Given the description of an element on the screen output the (x, y) to click on. 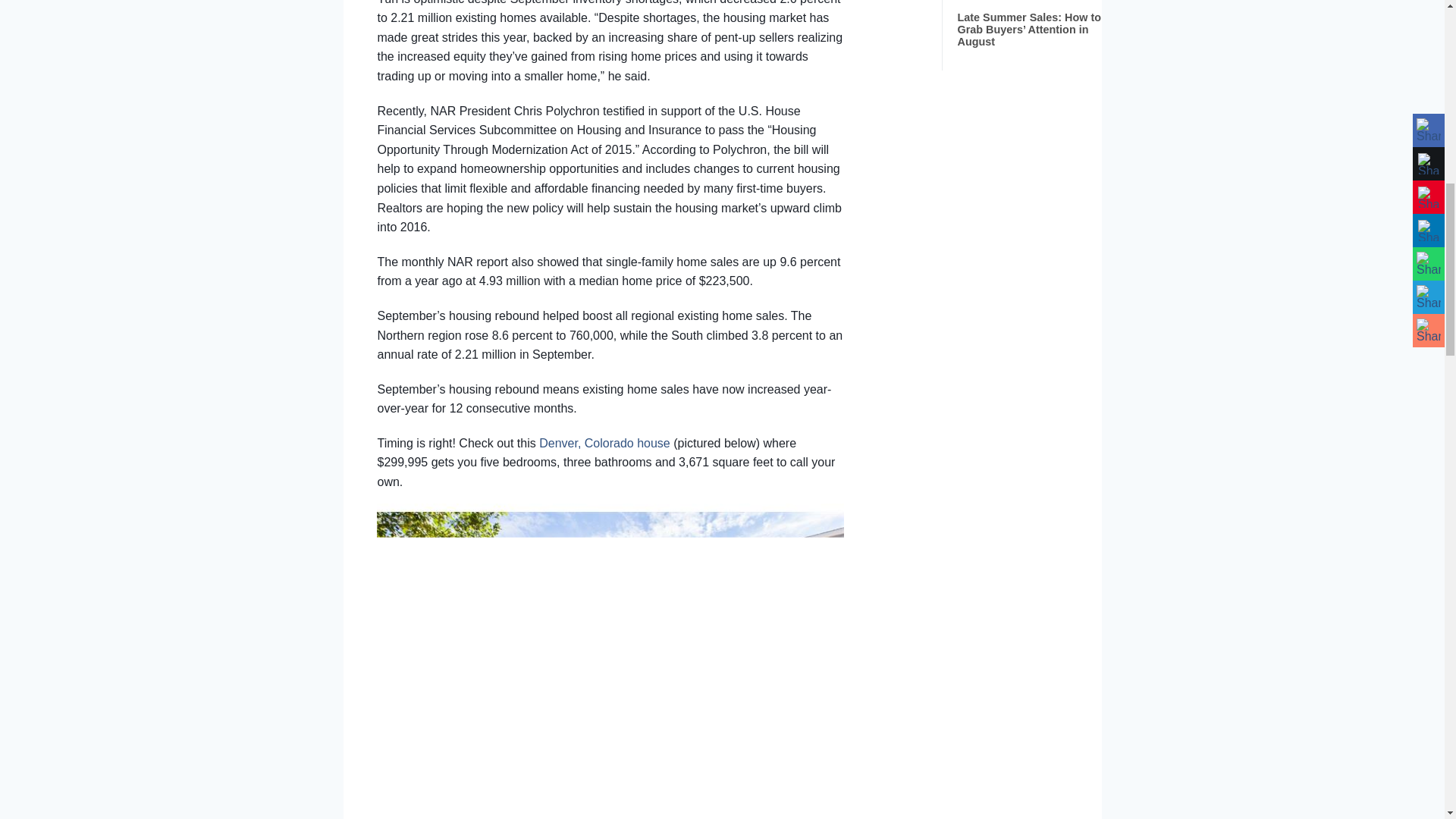
Denver, Colorado house (603, 442)
